Given the description of an element on the screen output the (x, y) to click on. 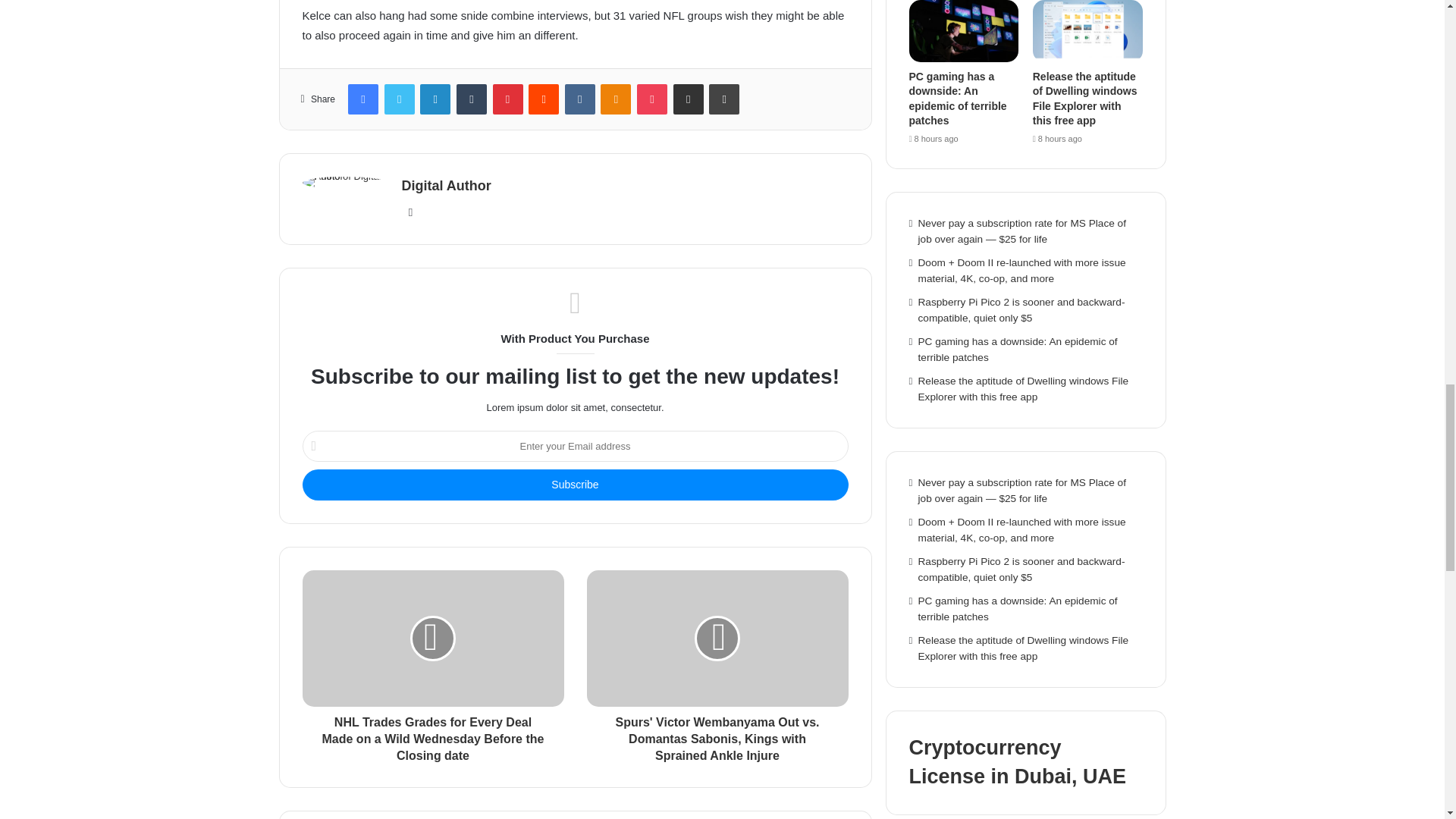
Pinterest (507, 99)
LinkedIn (434, 99)
Subscribe (574, 484)
Facebook (362, 99)
VKontakte (579, 99)
Odnoklassniki (614, 99)
Twitter (399, 99)
Pocket (651, 99)
VKontakte (579, 99)
Reddit (543, 99)
